Given the description of an element on the screen output the (x, y) to click on. 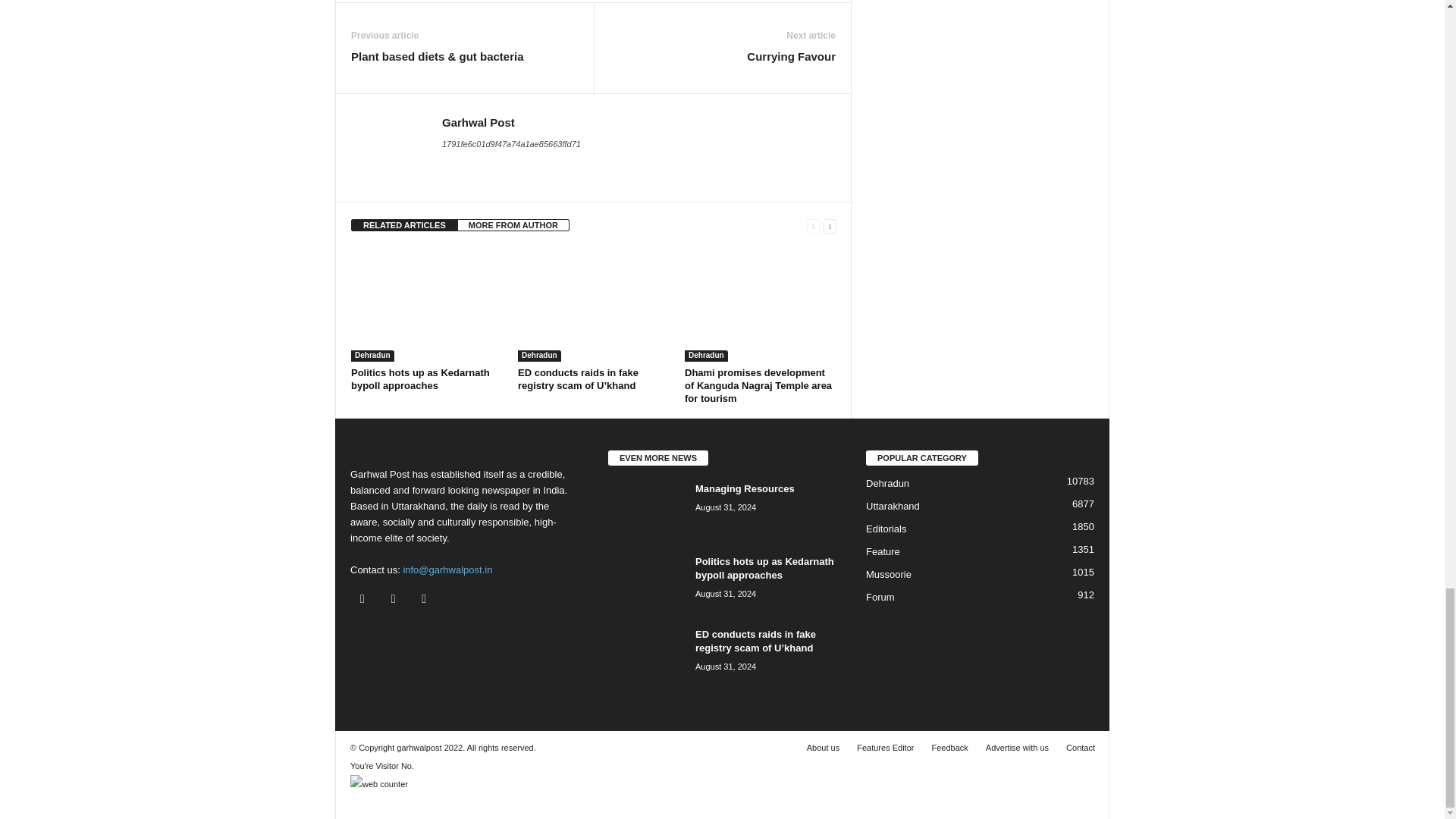
Politics hots up as Kedarnath bypoll approaches (419, 378)
Politics hots up as Kedarnath bypoll approaches (426, 304)
